Given the description of an element on the screen output the (x, y) to click on. 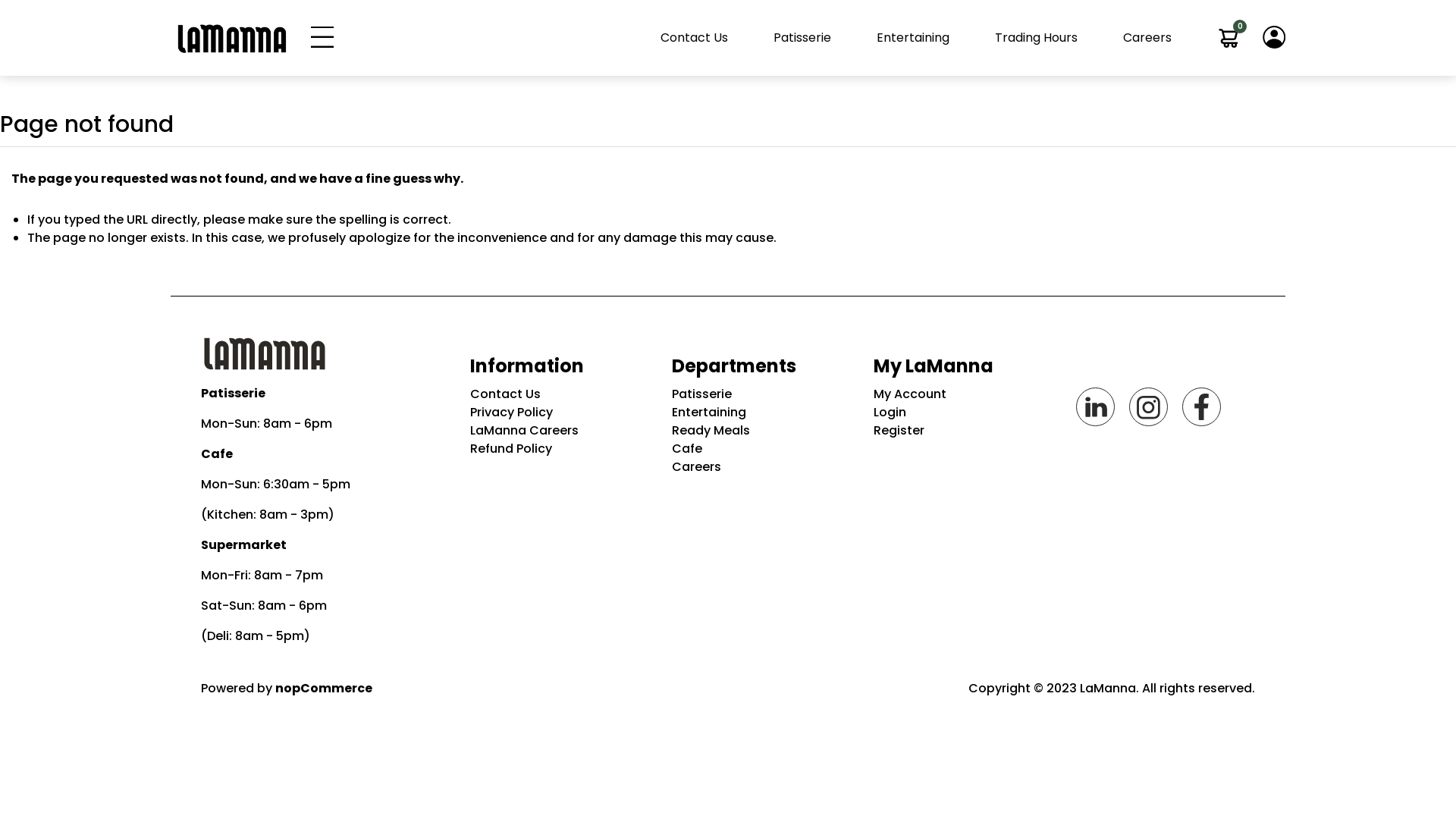
Ready Meals Element type: text (760, 430)
Careers Element type: text (1147, 37)
Trading Hours Element type: text (1036, 37)
Cafe Element type: text (760, 448)
0 Element type: text (1228, 37)
Patisserie Element type: text (760, 394)
Refund Policy Element type: text (559, 448)
Careers Element type: text (760, 467)
Entertaining Element type: text (913, 37)
LaManna Careers Element type: text (559, 430)
My Account Element type: text (962, 394)
nopCommerce Element type: text (323, 687)
Patisserie Element type: text (801, 37)
Privacy Policy Element type: text (559, 412)
Contact Us Element type: text (693, 37)
Contact Us Element type: text (559, 394)
Register Element type: text (962, 430)
Login Element type: text (962, 412)
Entertaining Element type: text (760, 412)
